Given the description of an element on the screen output the (x, y) to click on. 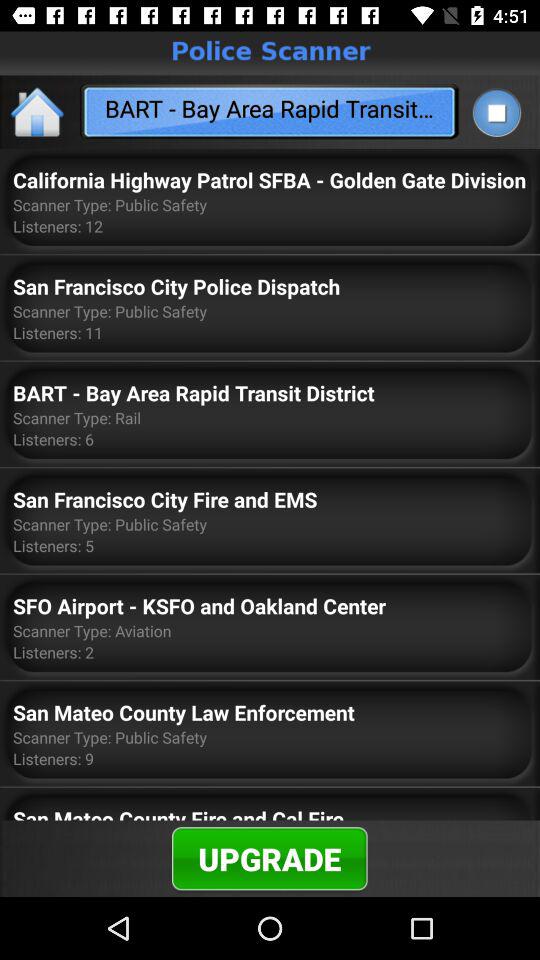
swipe to california highway patrol item (269, 179)
